Given the description of an element on the screen output the (x, y) to click on. 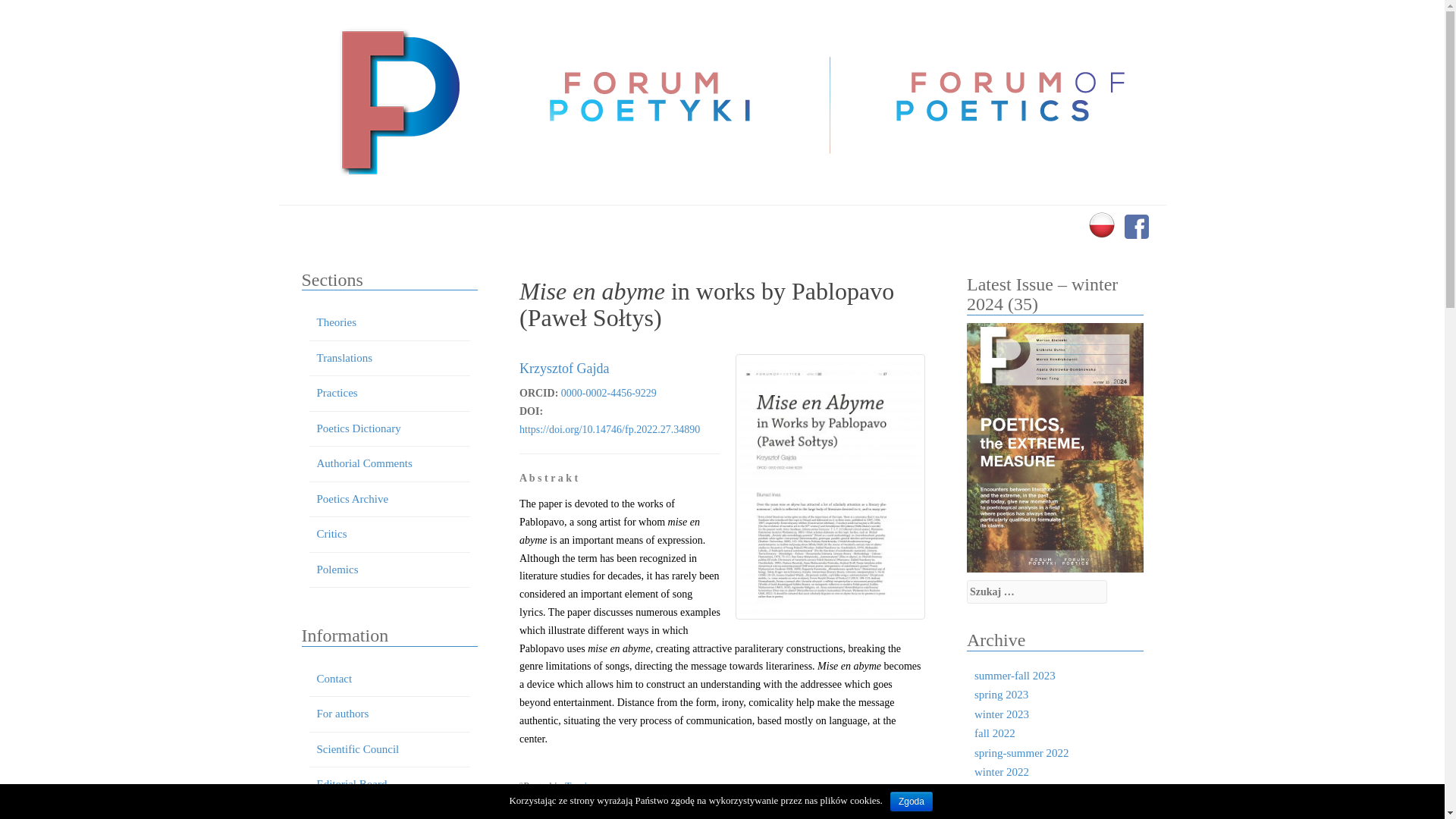
Forum Poetyki (397, 101)
Translations (344, 357)
Krzysztof Gajda (563, 368)
0000-0002-4456-9229 (608, 392)
Critics (332, 533)
Poetics Dictionary (359, 428)
Practices (337, 392)
Polemics (337, 569)
Authorial Comments (364, 463)
For authors (343, 713)
